Given the description of an element on the screen output the (x, y) to click on. 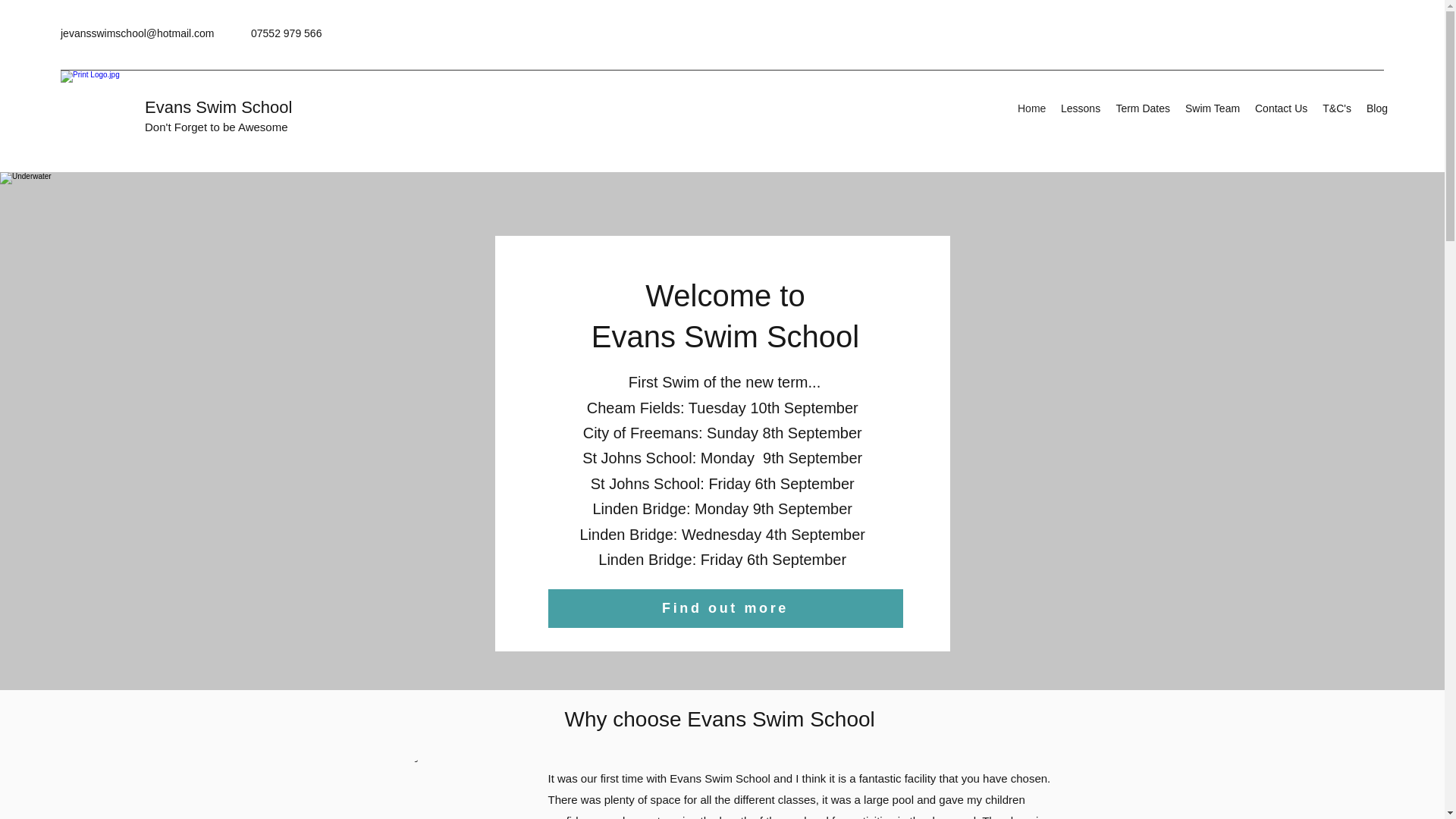
Home (1031, 108)
Swim Team (1212, 108)
Find out more (724, 608)
Term Dates (1142, 108)
Lessons (1080, 108)
Evans Swim School (218, 107)
Contact Us (1280, 108)
Blog (1376, 108)
